Given the description of an element on the screen output the (x, y) to click on. 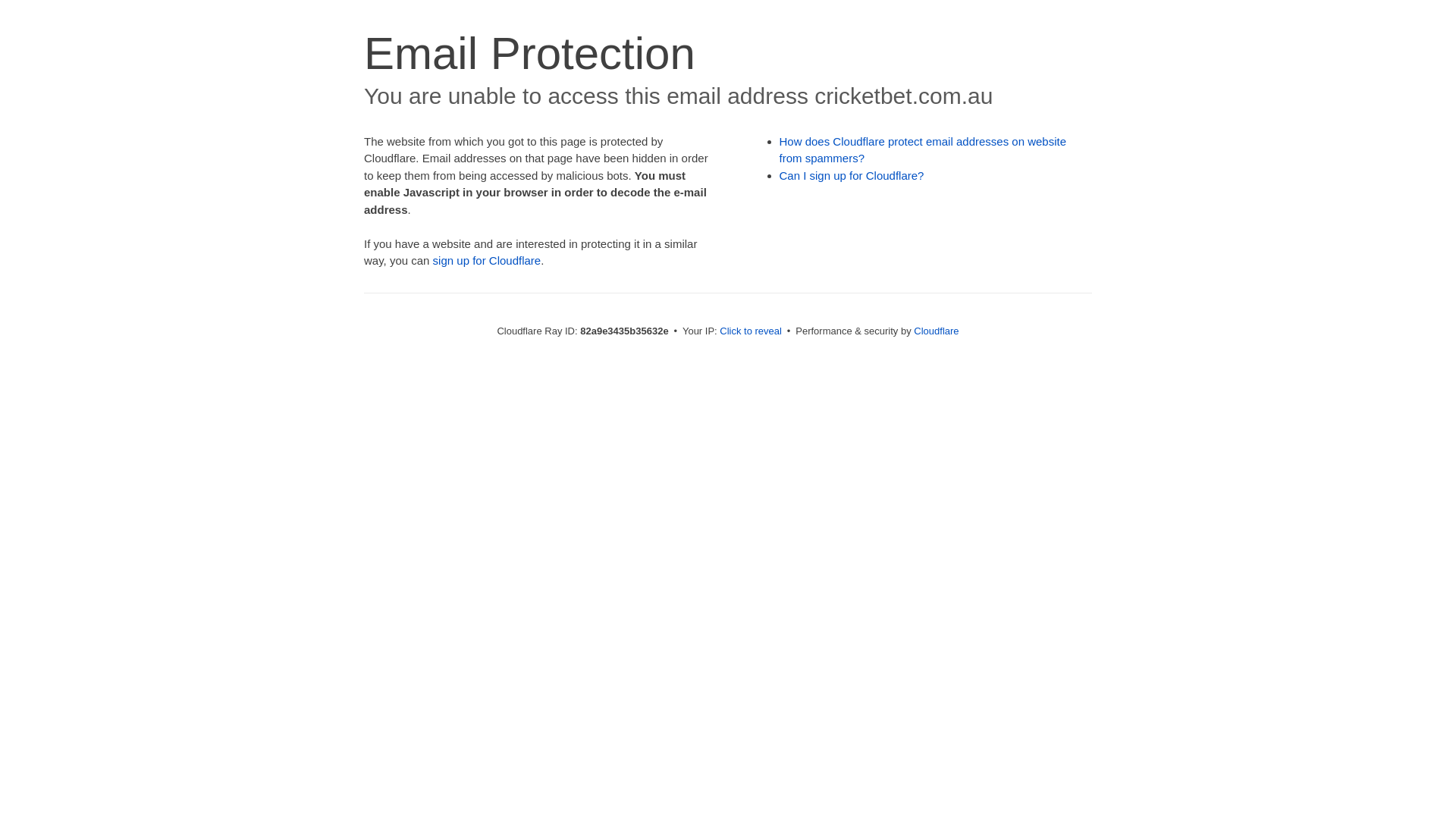
Cloudflare Element type: text (935, 330)
Click to reveal Element type: text (750, 330)
Can I sign up for Cloudflare? Element type: text (851, 175)
sign up for Cloudflare Element type: text (487, 260)
